Given the description of an element on the screen output the (x, y) to click on. 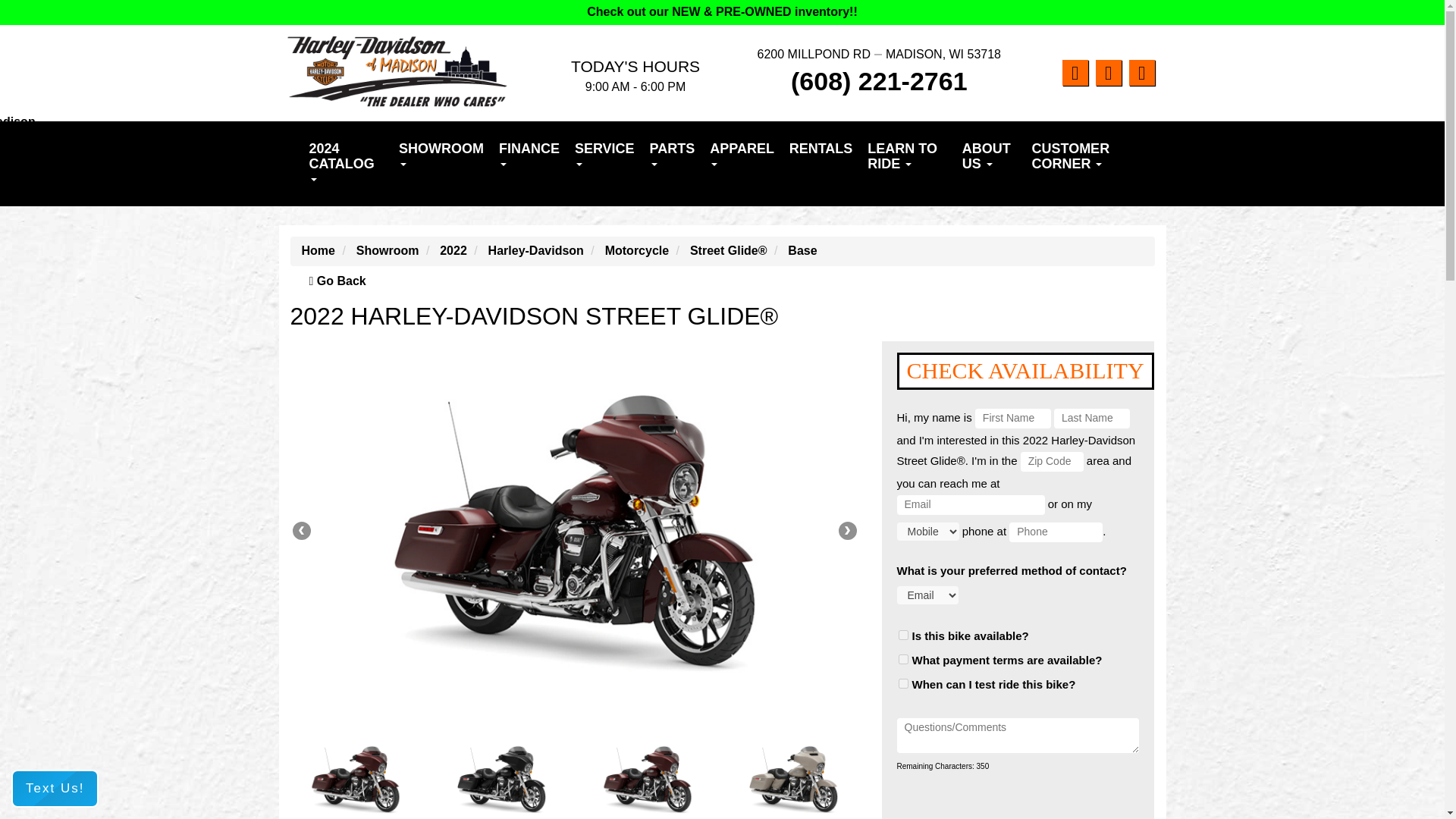
2024 Catalog (346, 163)
true (902, 659)
true (902, 683)
See us on YouTube (1141, 72)
true (902, 634)
SERVICE (604, 156)
Visit us on Facebook (1074, 72)
FINANCE (529, 156)
Follow us on Instagram (1107, 72)
2024 CATALOG (346, 163)
